Given the description of an element on the screen output the (x, y) to click on. 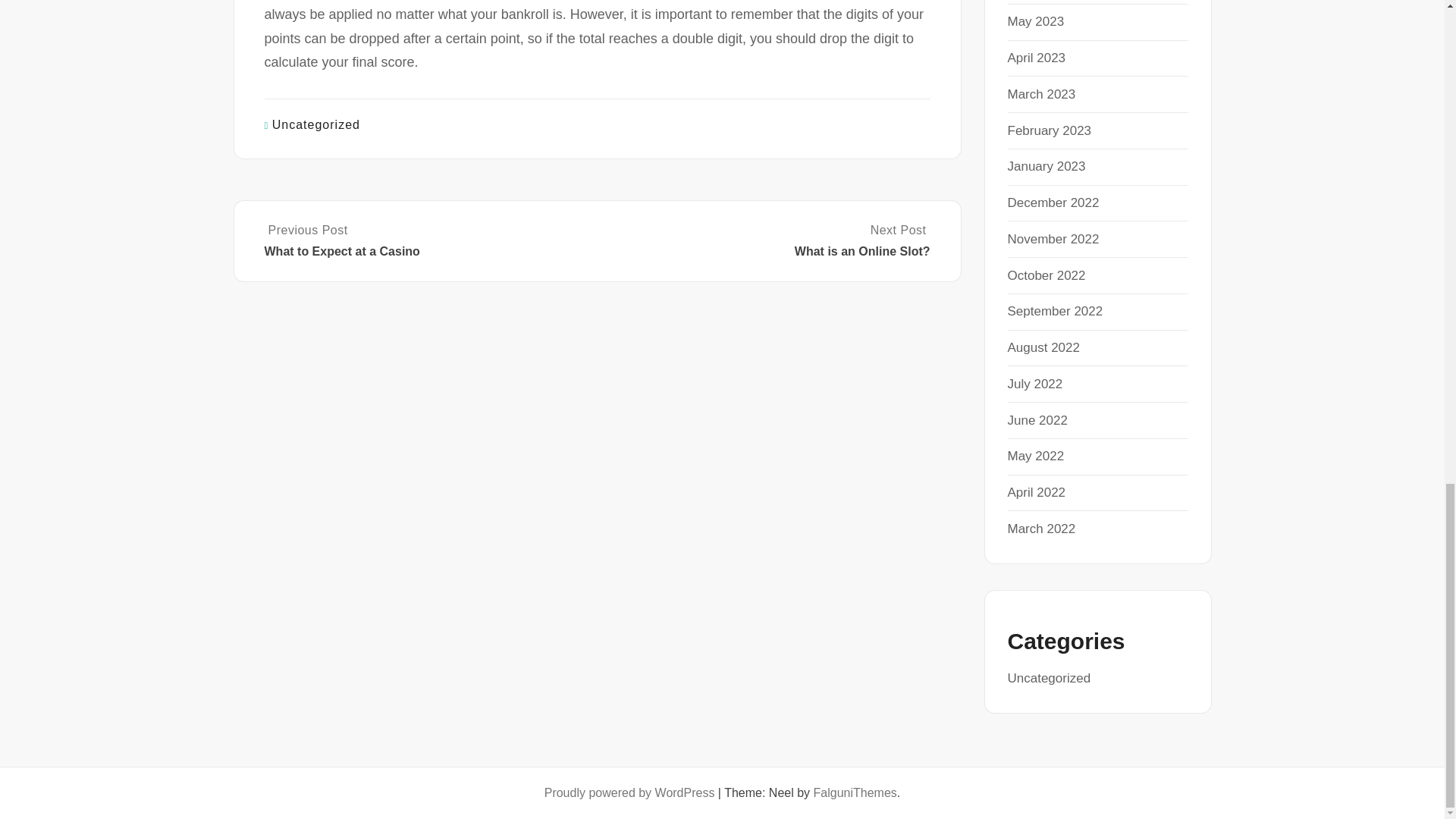
April 2023 (1036, 57)
May 2023 (1035, 21)
Uncategorized (315, 124)
March 2023 (1041, 93)
